Given the description of an element on the screen output the (x, y) to click on. 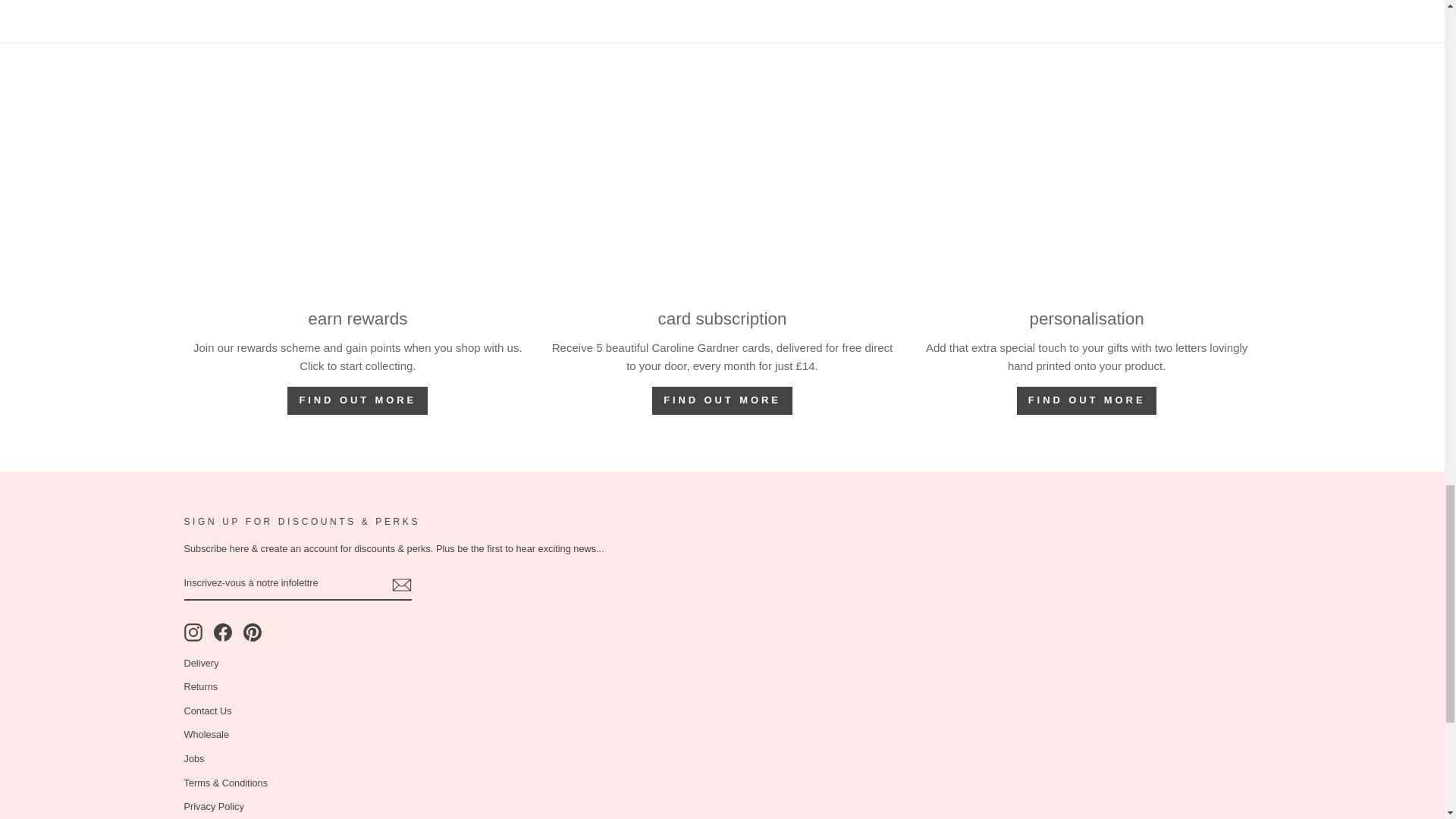
Caroline Gardner sur Instagram (192, 632)
Caroline Gardner sur Pinterest (251, 632)
Caroline Gardner sur Facebook (222, 632)
instagram (192, 632)
icon-email (400, 584)
